Given the description of an element on the screen output the (x, y) to click on. 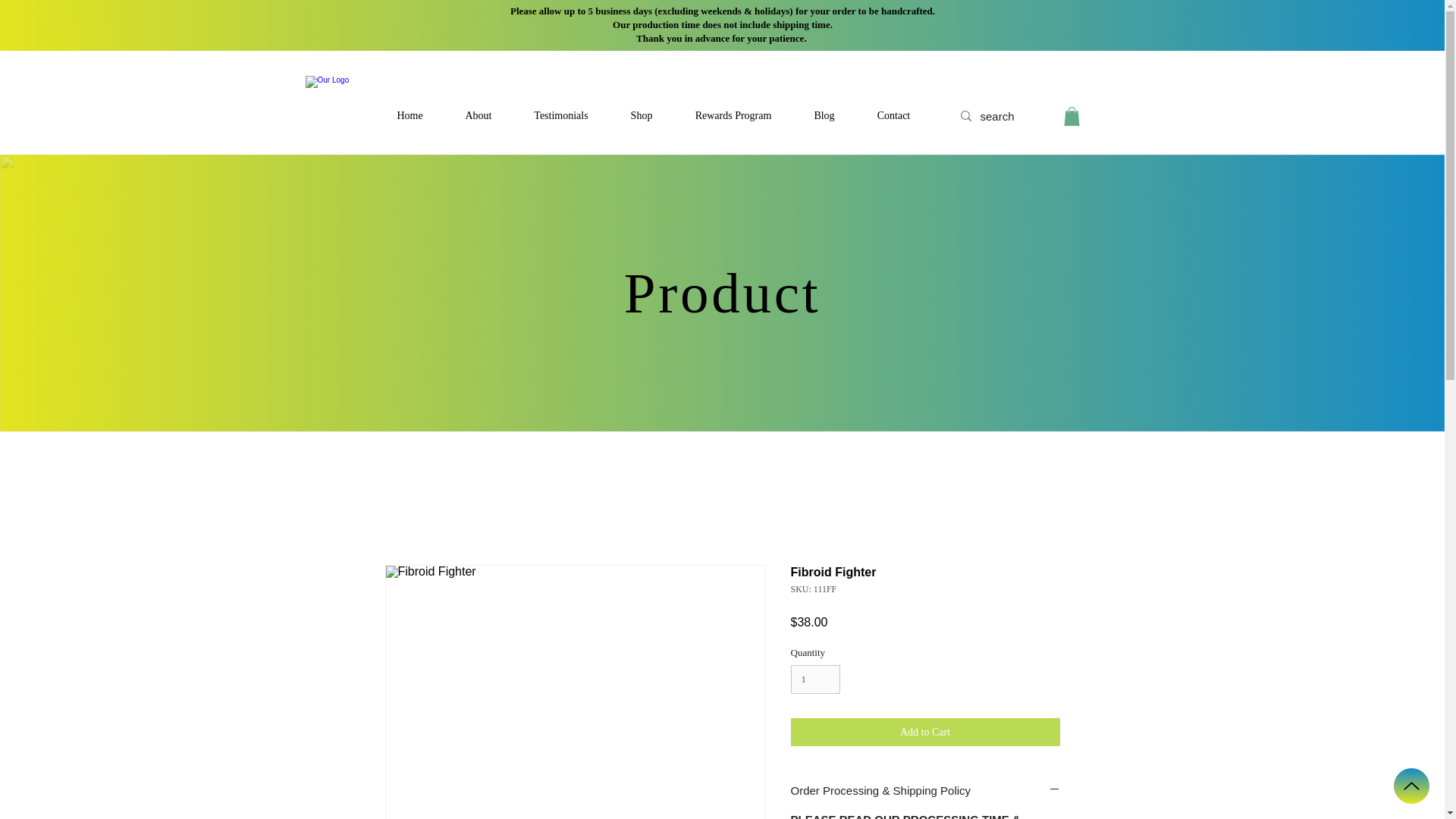
Rewards Program (732, 115)
Home (409, 115)
Shop (642, 115)
Add to Cart (924, 732)
Contact (893, 115)
About (478, 115)
Blog (824, 115)
1 (815, 679)
Testimonials (560, 115)
